Given the description of an element on the screen output the (x, y) to click on. 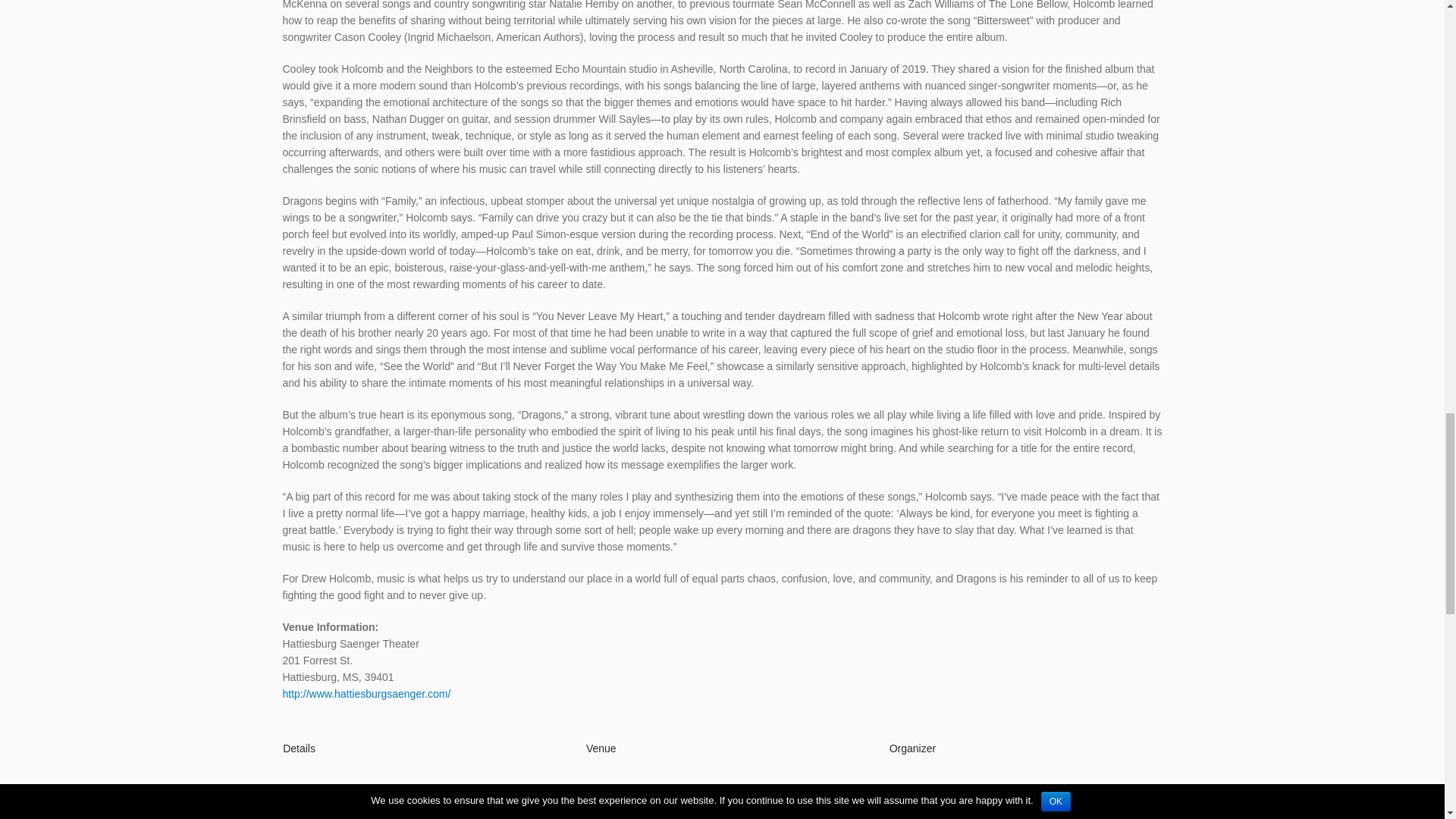
2019-10-19 (513, 792)
Ardenland (1137, 793)
2019-10-19 (508, 816)
